Given the description of an element on the screen output the (x, y) to click on. 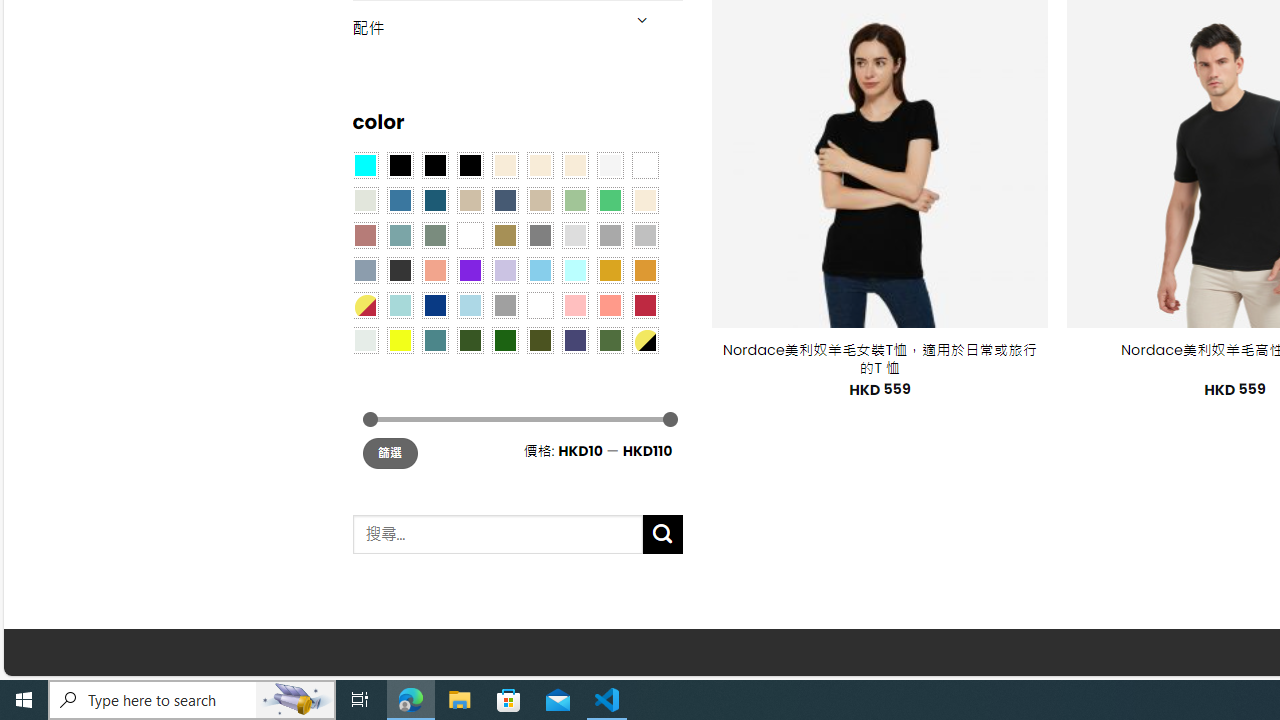
Cream (574, 164)
